Given the description of an element on the screen output the (x, y) to click on. 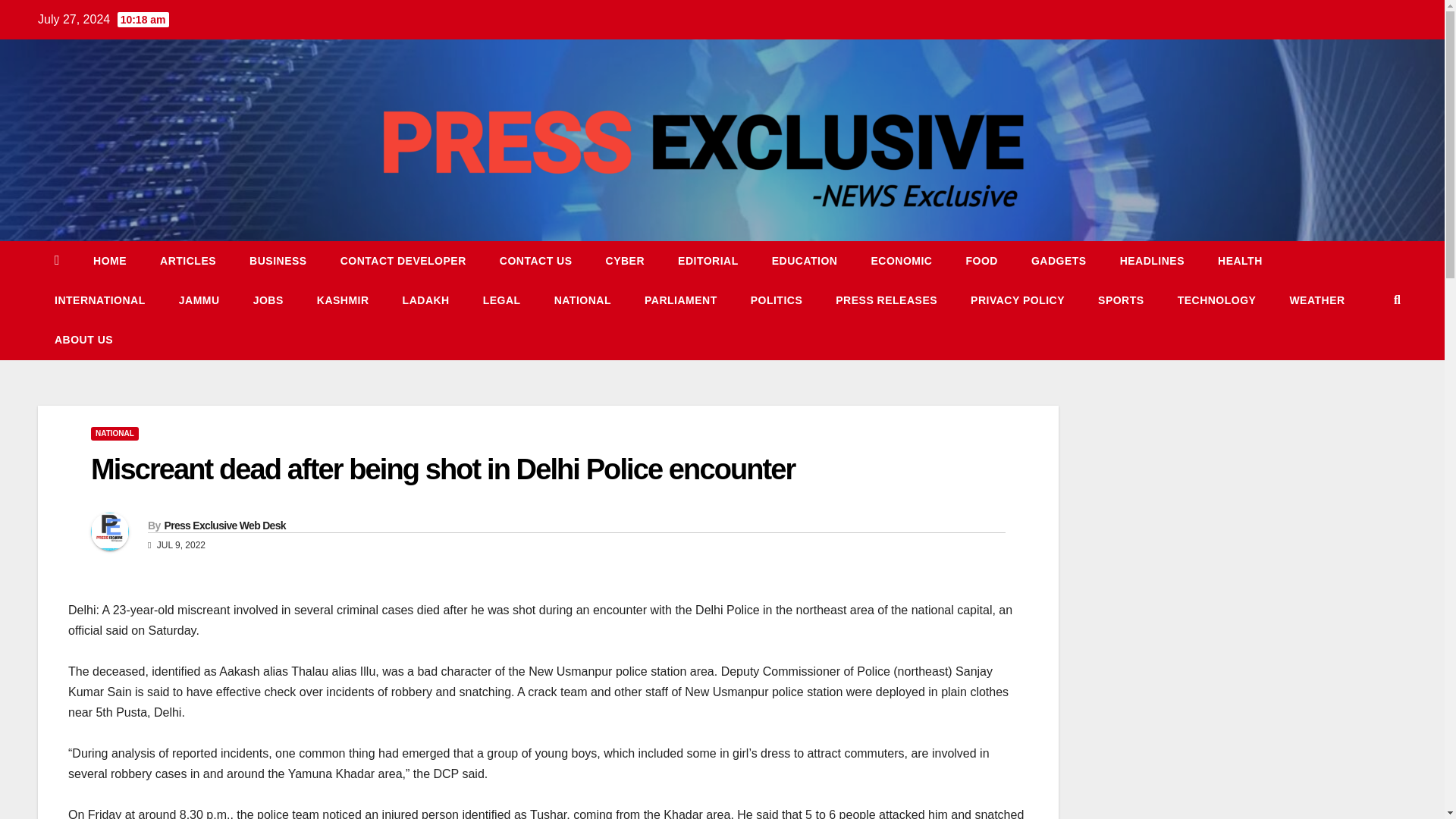
CONTACT DEVELOPER (403, 260)
Editorial (708, 260)
Headlines (1152, 260)
JOBS (267, 300)
HEALTH (1240, 260)
ECONOMIC (901, 260)
GADGETS (1058, 260)
Gadgets (1058, 260)
CONTACT US (536, 260)
PRIVACY POLICY (1017, 300)
Articles (187, 260)
EDUCATION (804, 260)
Health (1240, 260)
Business (277, 260)
Jammu (198, 300)
